Given the description of an element on the screen output the (x, y) to click on. 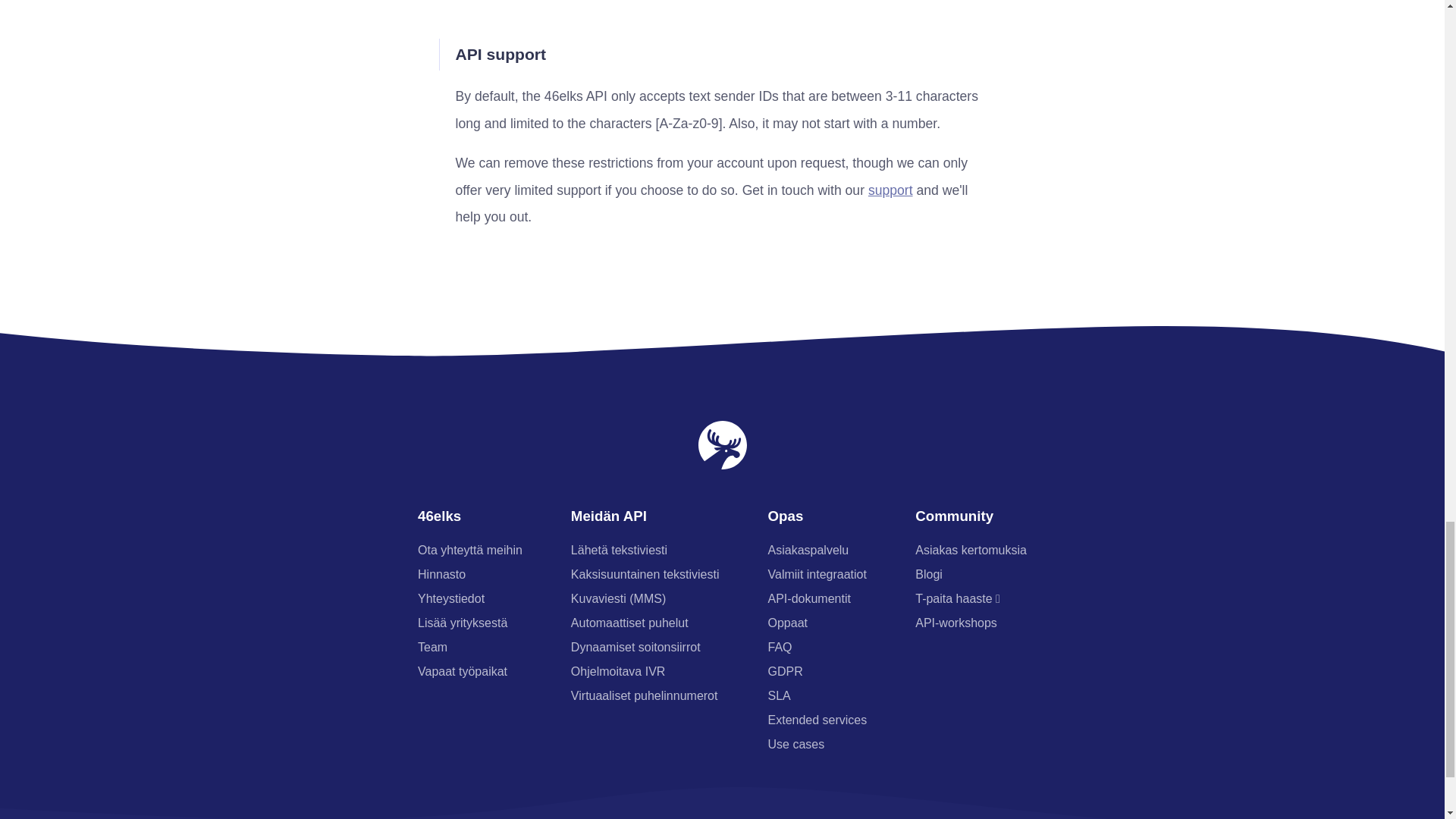
Link to GDPR Information (785, 671)
Link to SMS Product Information (618, 549)
Link to two-way SMS Product Information (644, 574)
Link to Call Forwarding Product Information (635, 646)
Link to team page (431, 646)
Link to MMS Product Information (617, 598)
Link to Virtual Product Information (643, 695)
Link to pricing page (441, 574)
Yhteystiedot (450, 598)
Link to Voice Product Information (629, 622)
